Given the description of an element on the screen output the (x, y) to click on. 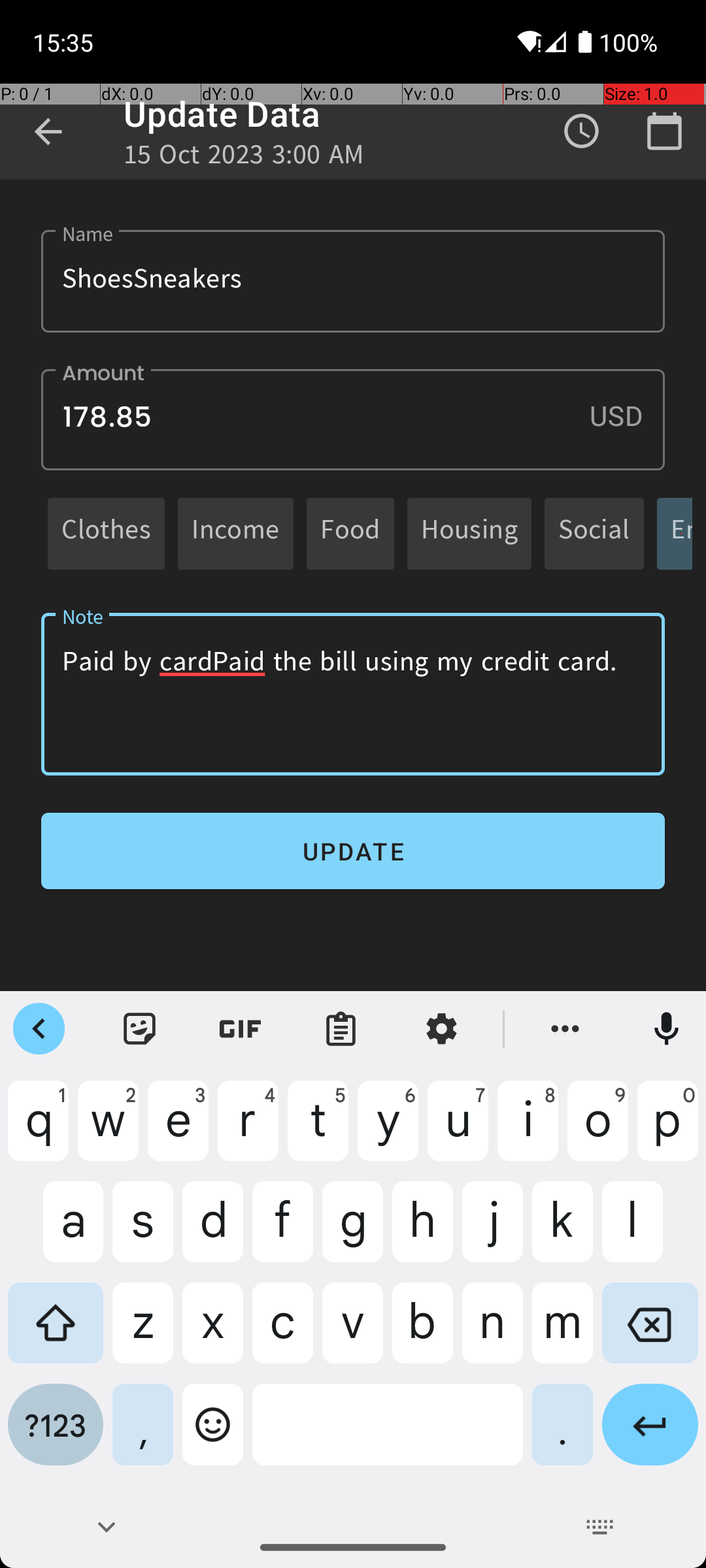
15 Oct 2023 3:00 AM Element type: android.widget.TextView (243, 157)
ShoesSneakers Element type: android.widget.EditText (352, 280)
178.85 Element type: android.widget.EditText (352, 419)
Paid by cardPaid the bill using my credit card.
 Element type: android.widget.EditText (352, 693)
Clothes Element type: android.widget.TextView (106, 533)
